Given the description of an element on the screen output the (x, y) to click on. 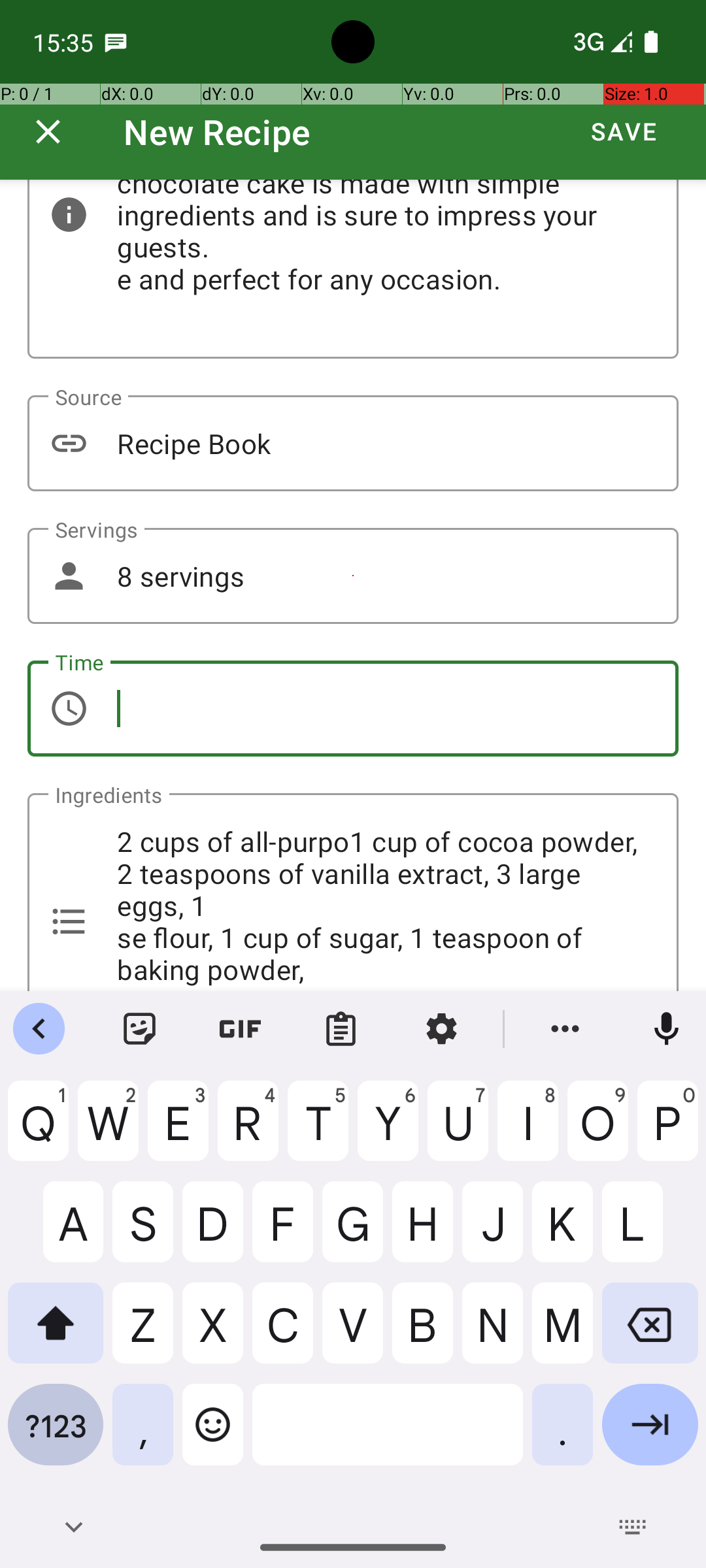
This recipe is a delicious chocolate cake that is easy to makThis rich and moist chocolate cake is made with simple ingredients and is sure to impress your guests.
e and perfect for any occasion.
 Element type: android.widget.EditText (352, 268)
Recipe Book Element type: android.widget.EditText (352, 443)
2 cups of all-purpo1 cup of cocoa powder, 2 teaspoons of vanilla extract, 3 large eggs, 1
se flour, 1 cup of sugar, 1 teaspoon of baking powder,
 Element type: android.widget.EditText (352, 892)
